Given the description of an element on the screen output the (x, y) to click on. 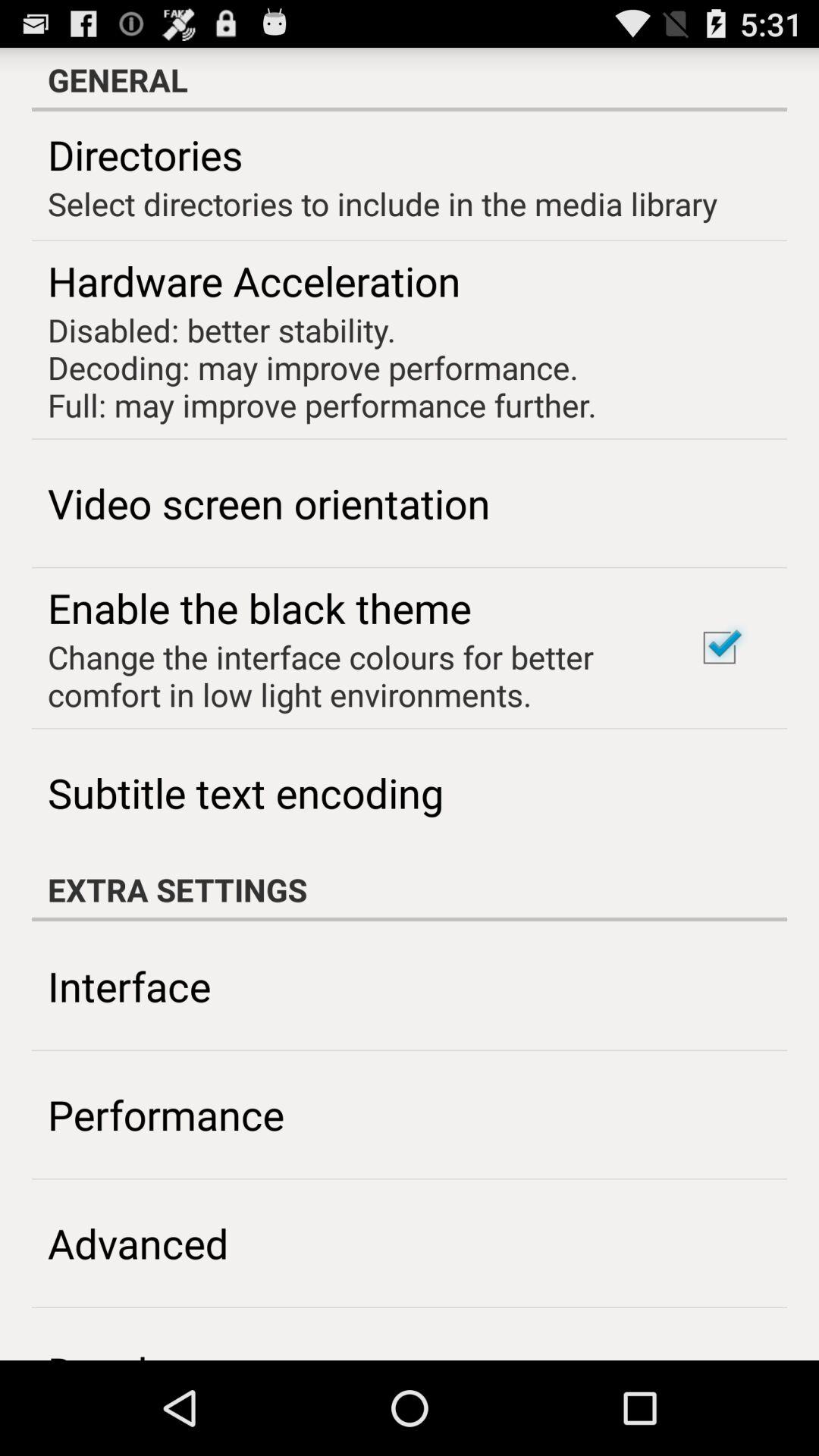
press the app below the video screen orientation item (259, 607)
